Given the description of an element on the screen output the (x, y) to click on. 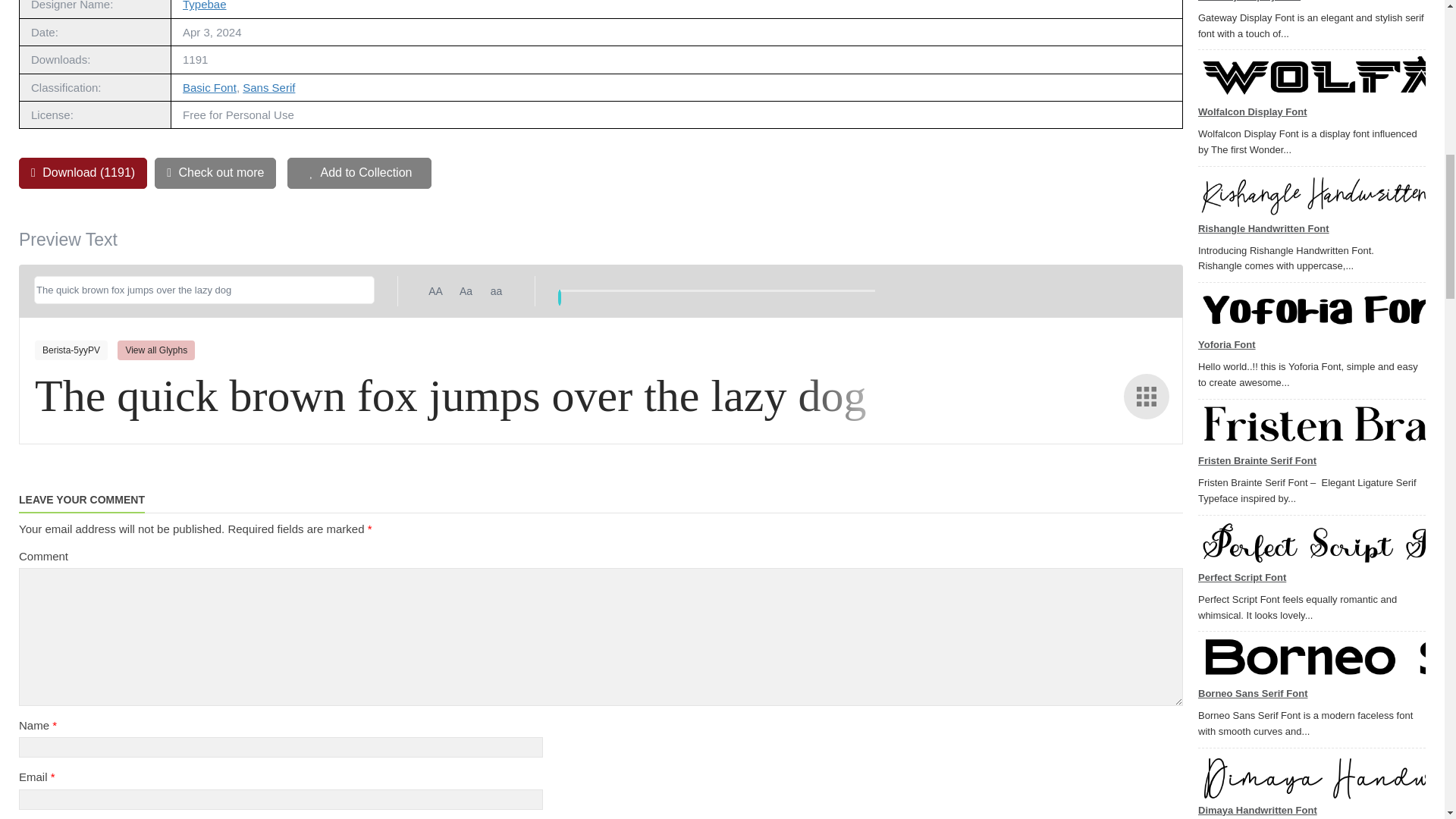
View Characters (1146, 396)
The quick brown fox jumps over the lazy dog (203, 289)
Typebae (205, 5)
